Given the description of an element on the screen output the (x, y) to click on. 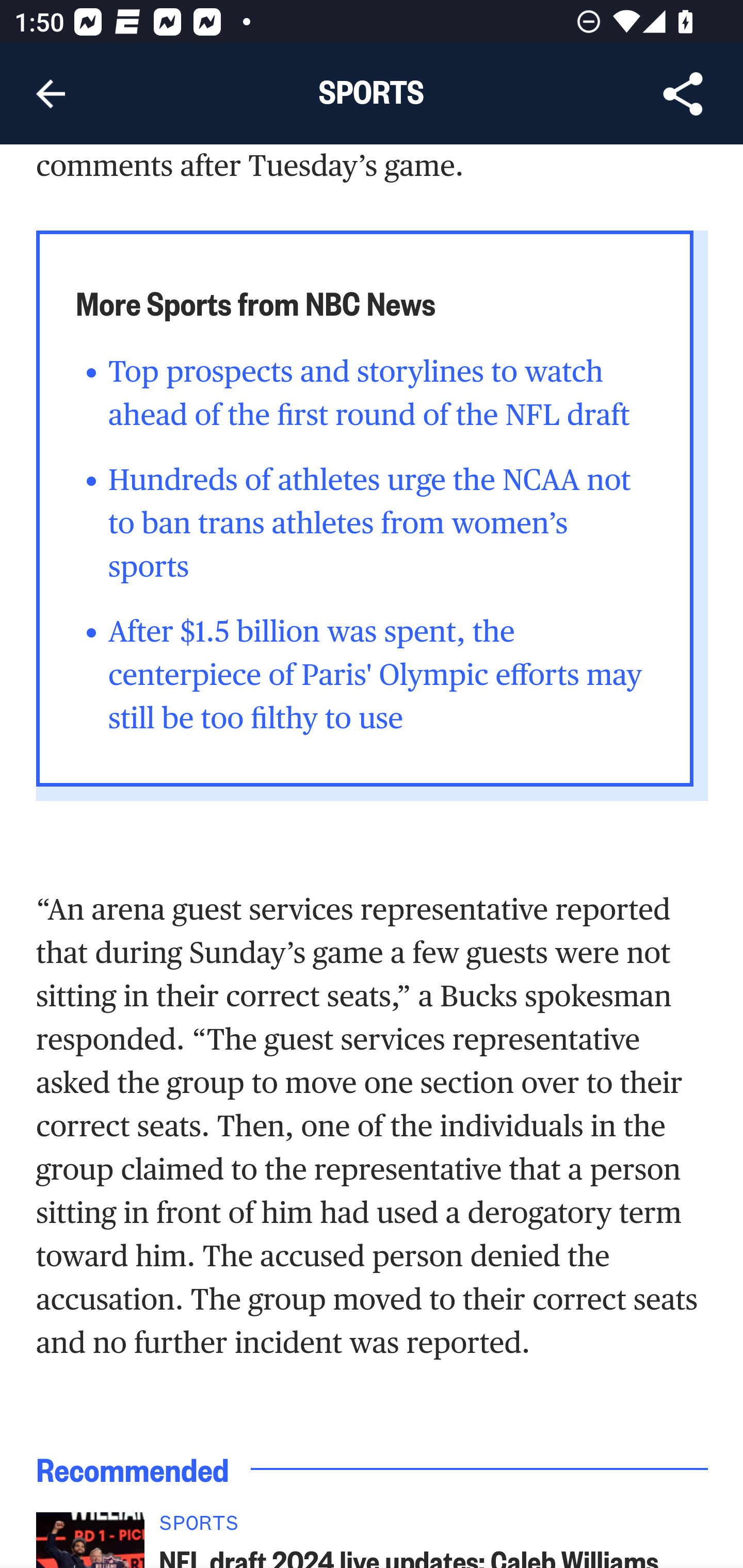
Navigate up (50, 93)
Share Article, button (683, 94)
SPORTS (434, 1528)
nfl-draft-2024-live-updates-rcna148996 (90, 1540)
